Given the description of an element on the screen output the (x, y) to click on. 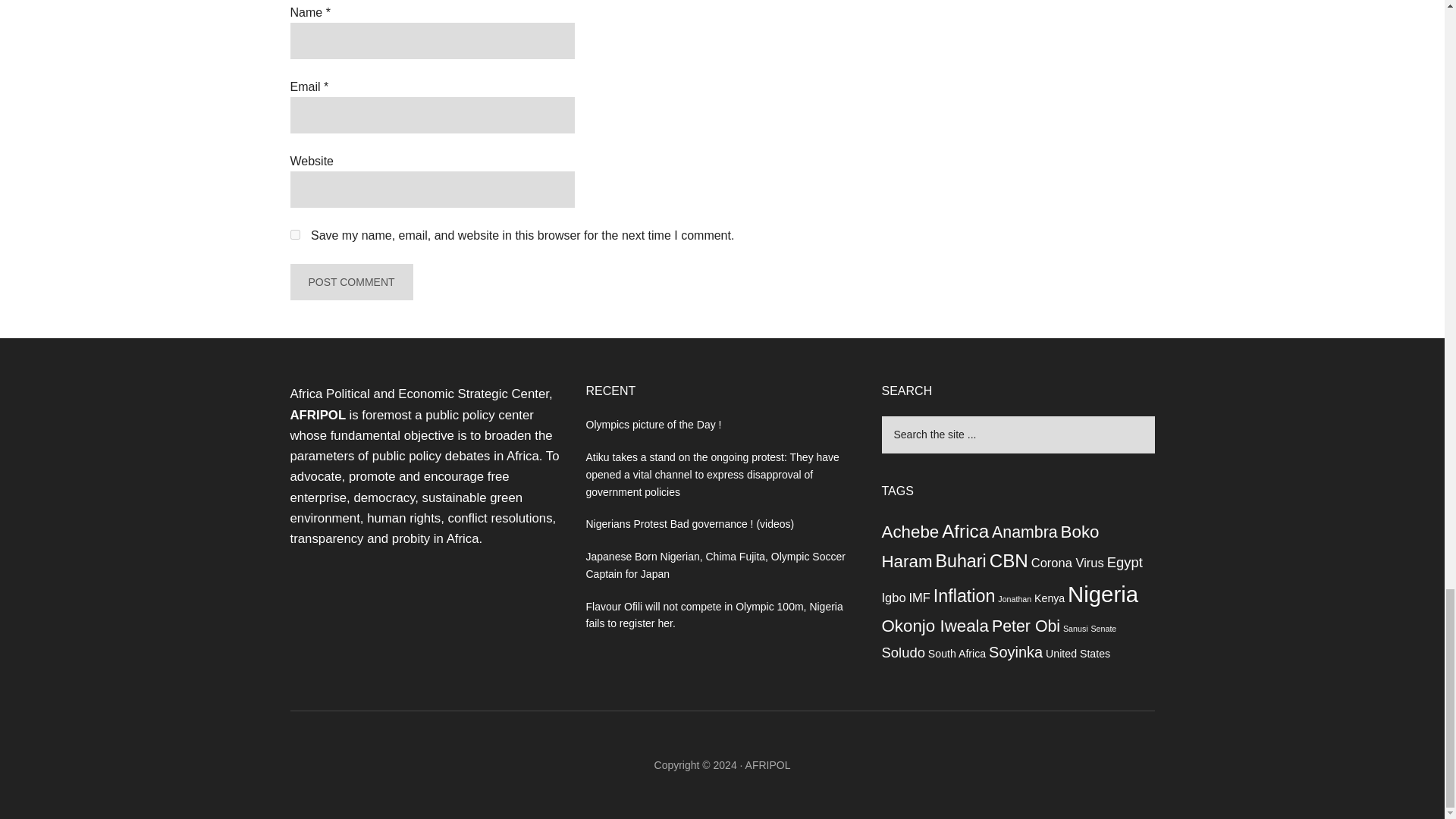
yes (294, 234)
Post Comment (350, 281)
Post Comment (350, 281)
